Given the description of an element on the screen output the (x, y) to click on. 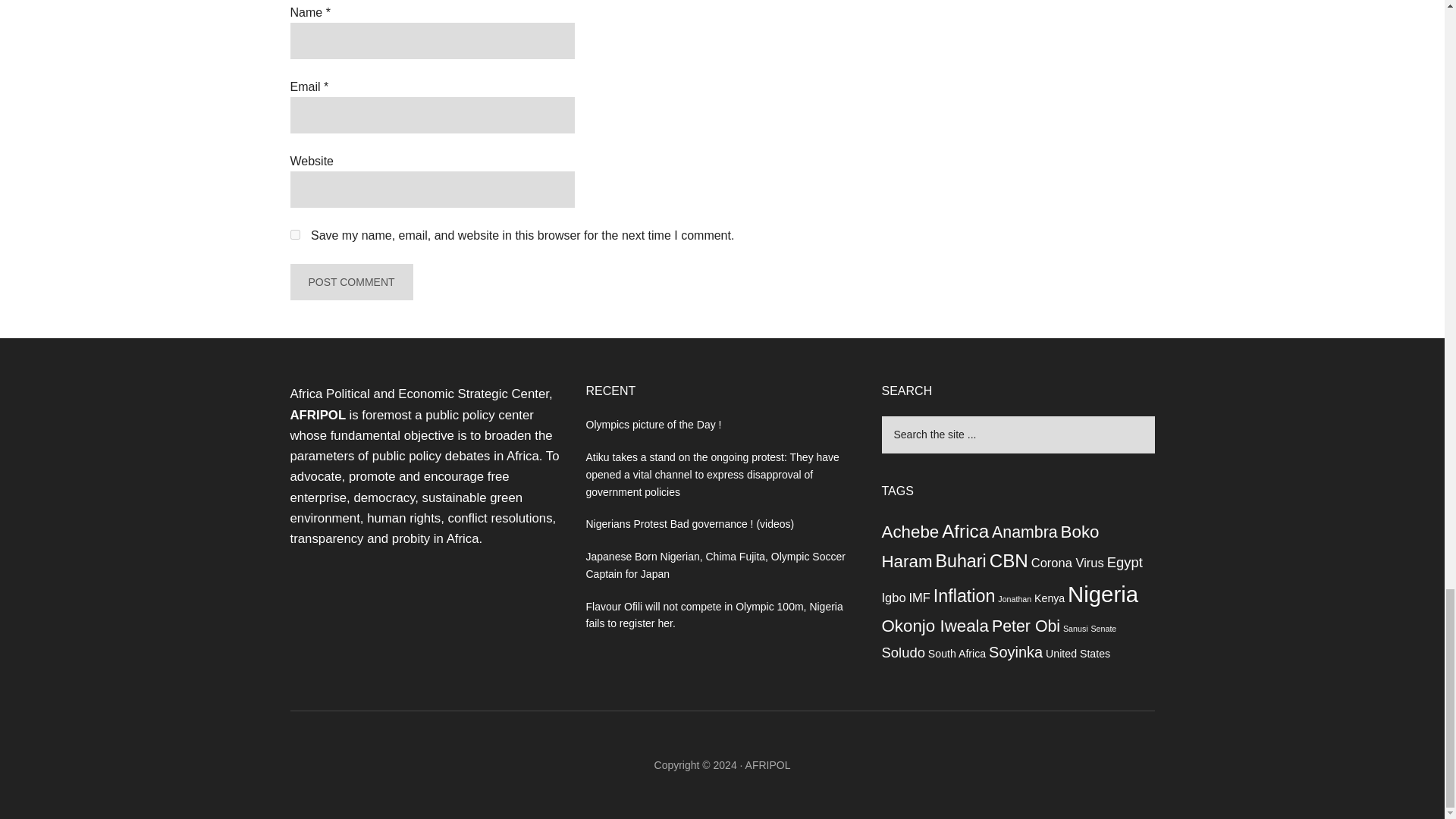
yes (294, 234)
Post Comment (350, 281)
Post Comment (350, 281)
